Given the description of an element on the screen output the (x, y) to click on. 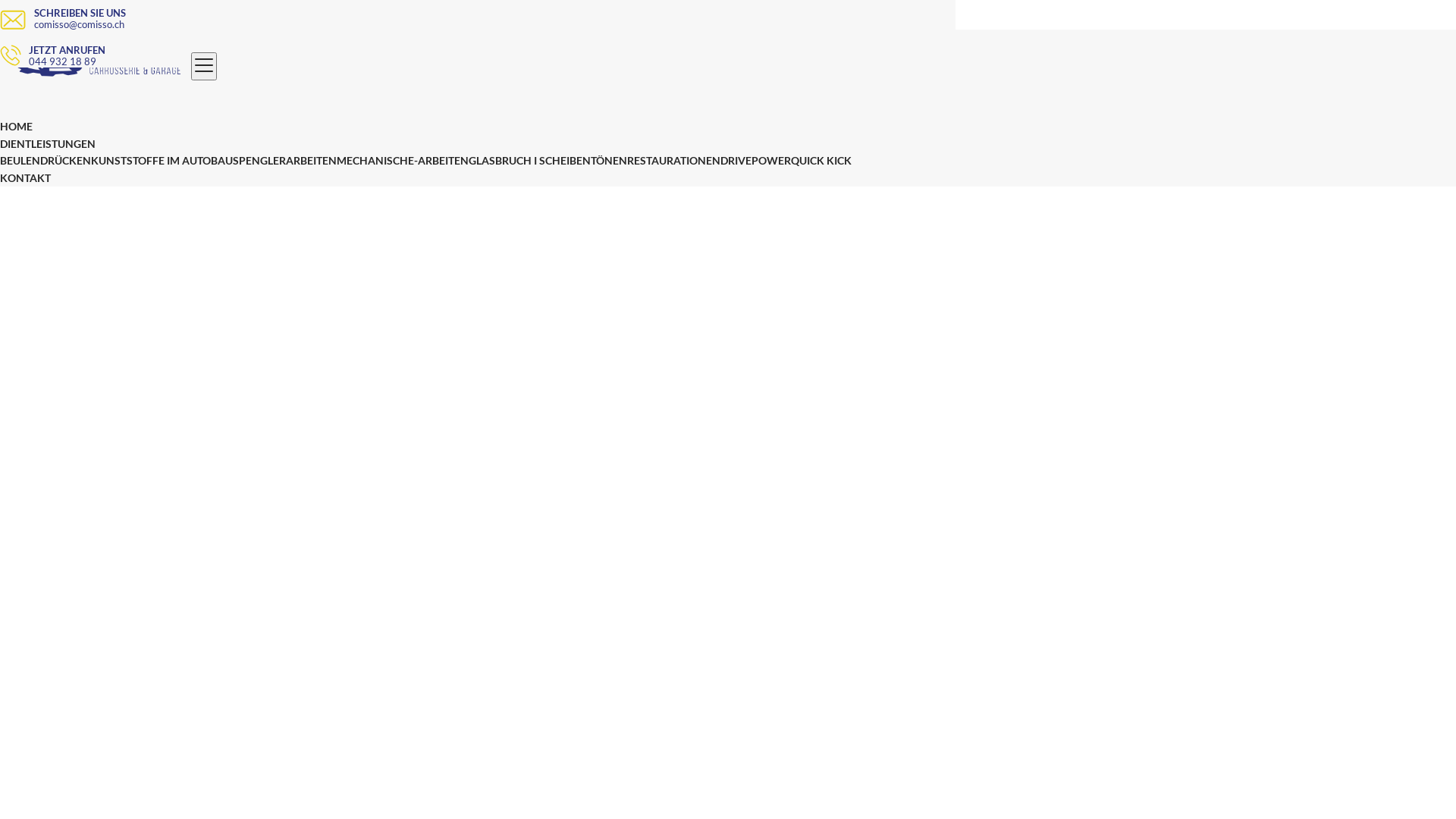
QUICK KICK Element type: text (820, 159)
Menu Element type: text (203, 66)
HOME Element type: text (16, 125)
DIENTLEISTUNGEN Element type: text (47, 143)
comisso@comisso.ch Element type: text (494, 24)
KONTAKT Element type: text (25, 177)
044 932 18 89 Element type: text (486, 61)
DRIVEPOWER Element type: text (755, 159)
RESTAURATIONEN Element type: text (673, 159)
SPENGLERARBEITEN Element type: text (284, 159)
MECHANISCHE-ARBEITEN Element type: text (402, 159)
KUNSTSTOFFE IM AUTOBAU Element type: text (161, 159)
